Given the description of an element on the screen output the (x, y) to click on. 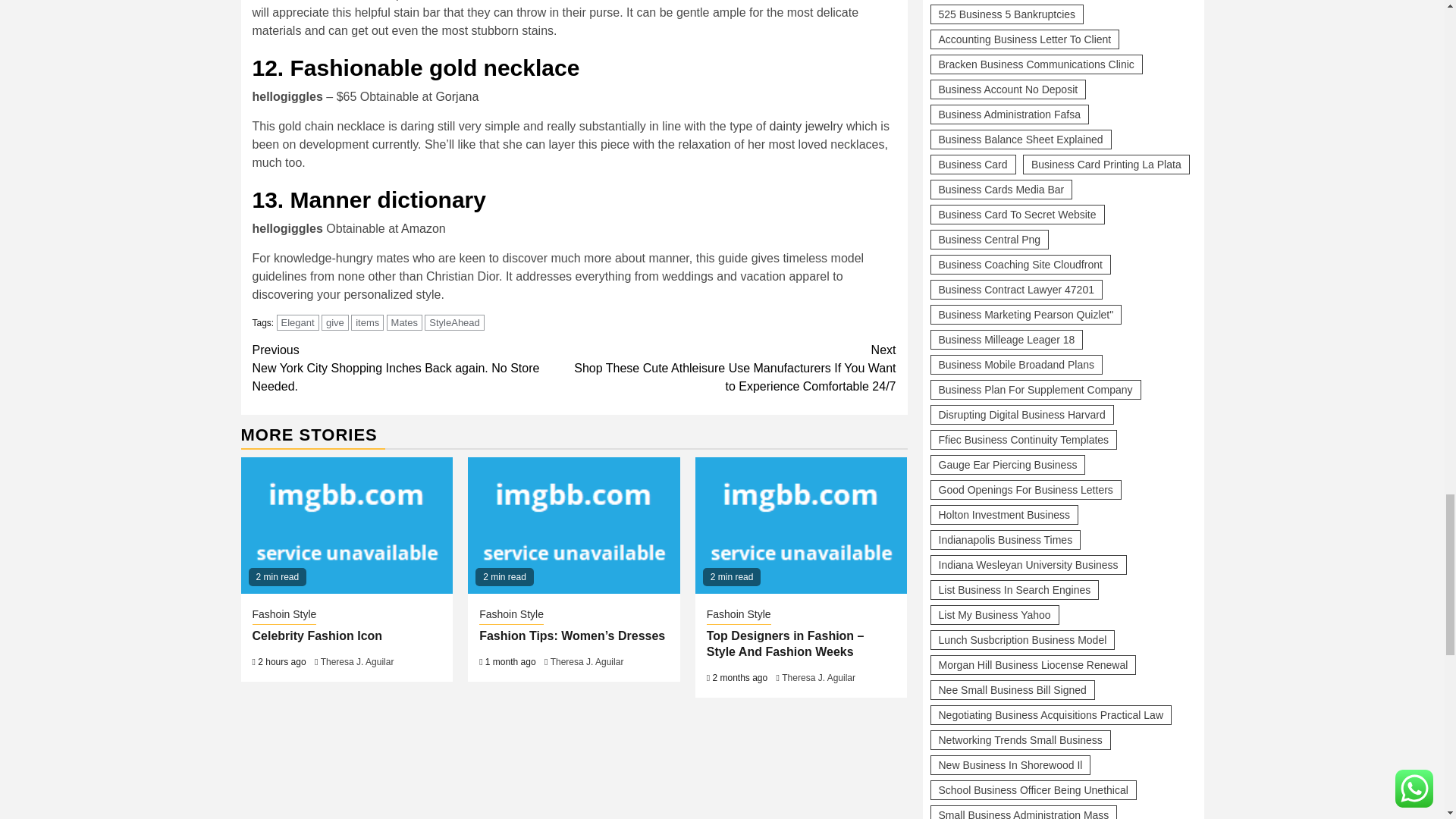
Celebrity Fashion Icon (346, 525)
